Given the description of an element on the screen output the (x, y) to click on. 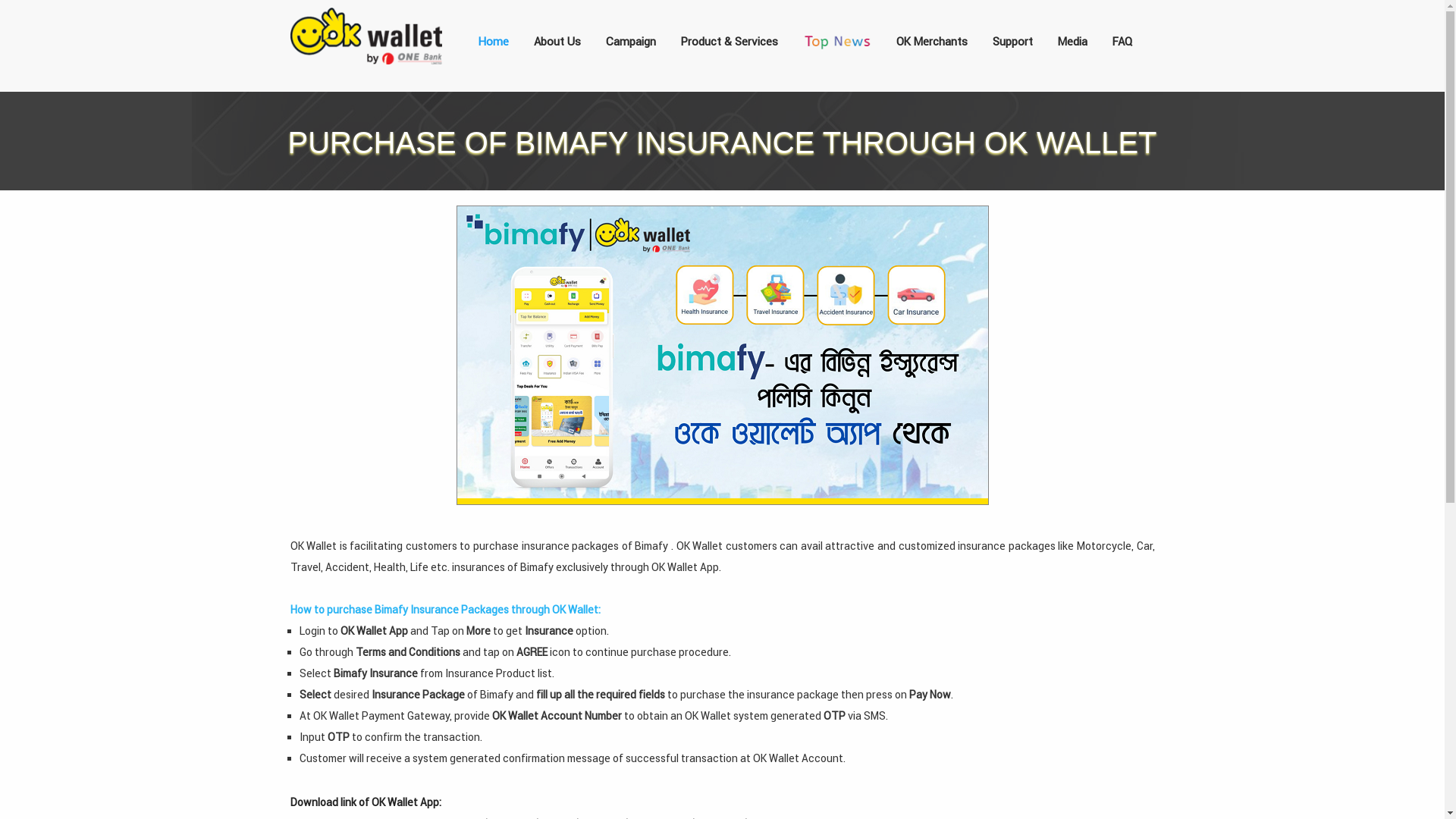
Product & Services Element type: text (728, 40)
Campaign Element type: text (630, 40)
OK Merchants Element type: text (931, 40)
FAQ Element type: text (1122, 40)
Home Element type: text (492, 40)
Support Element type: text (1012, 40)
About Us Element type: text (556, 40)
Media Element type: text (1072, 40)
